Given the description of an element on the screen output the (x, y) to click on. 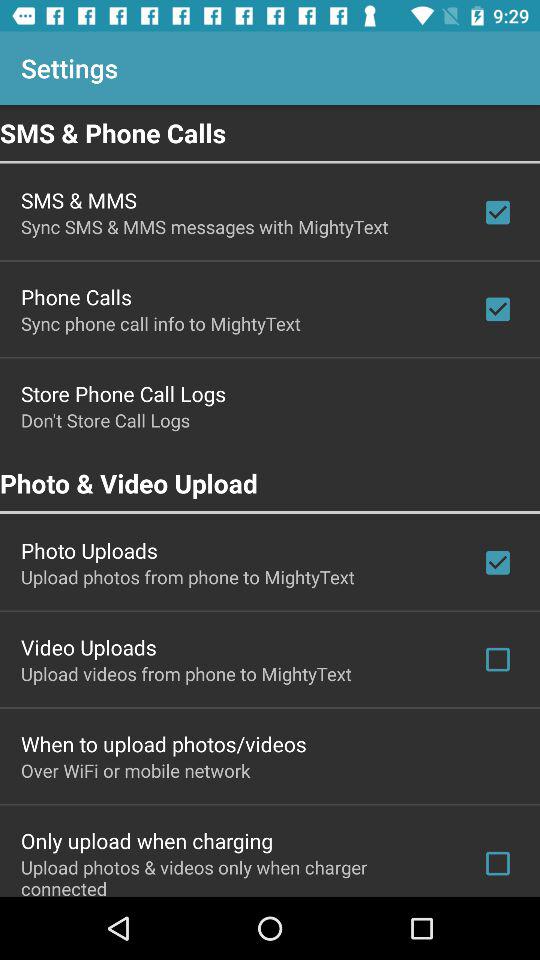
choose the video uploads item (88, 647)
